Given the description of an element on the screen output the (x, y) to click on. 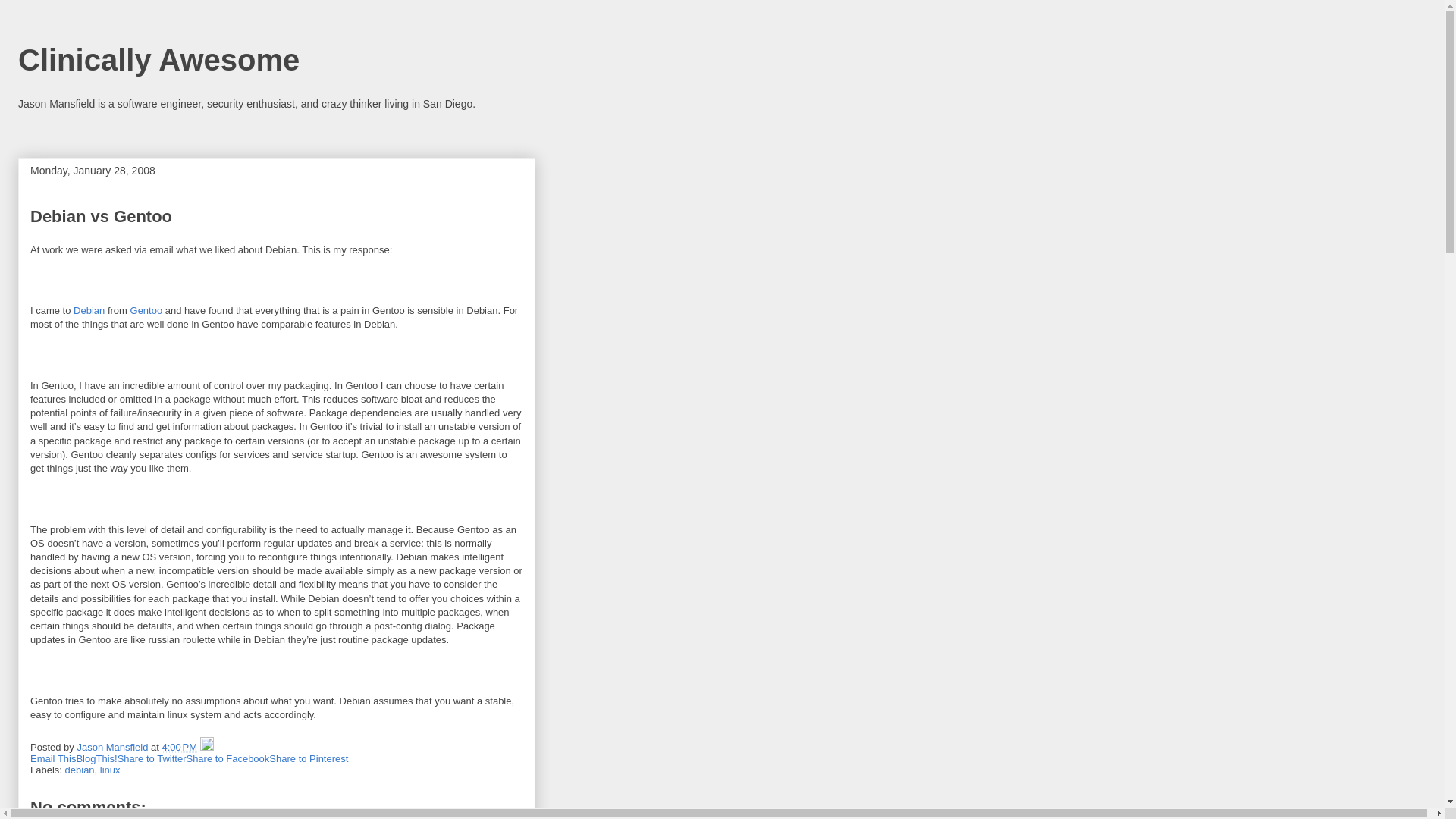
Share to Facebook (227, 758)
BlogThis! (95, 758)
Gentoo (147, 310)
author profile (114, 747)
Edit Post (207, 747)
Clinically Awesome (158, 59)
BlogThis! (95, 758)
Jason Mansfield (114, 747)
debian (79, 769)
linux (110, 769)
Share to Pinterest (308, 758)
Email This (52, 758)
Share to Twitter (151, 758)
Debian (89, 310)
Share to Pinterest (308, 758)
